Given the description of an element on the screen output the (x, y) to click on. 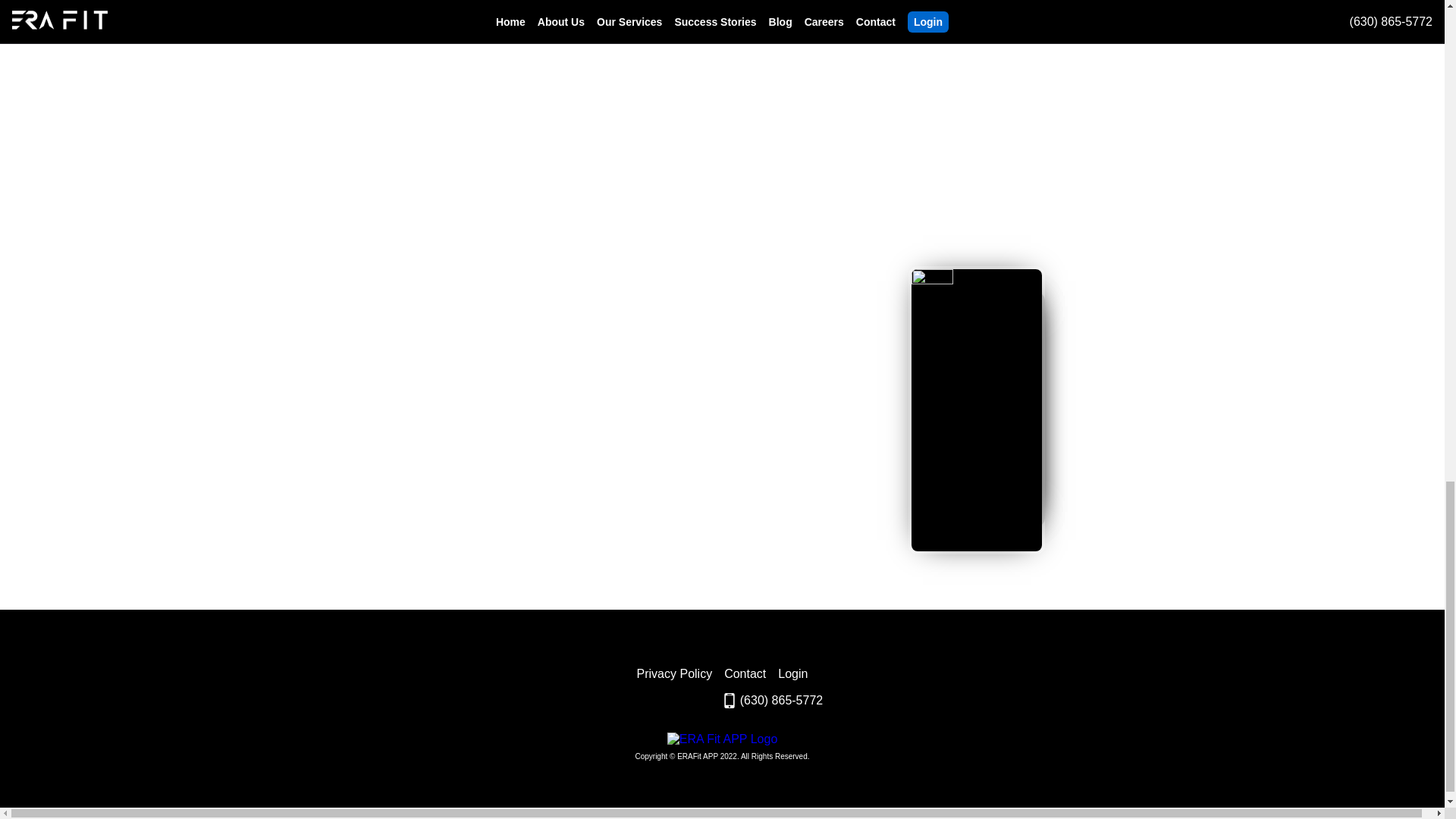
Contact (744, 673)
Login (792, 673)
Privacy Policy (675, 673)
